Given the description of an element on the screen output the (x, y) to click on. 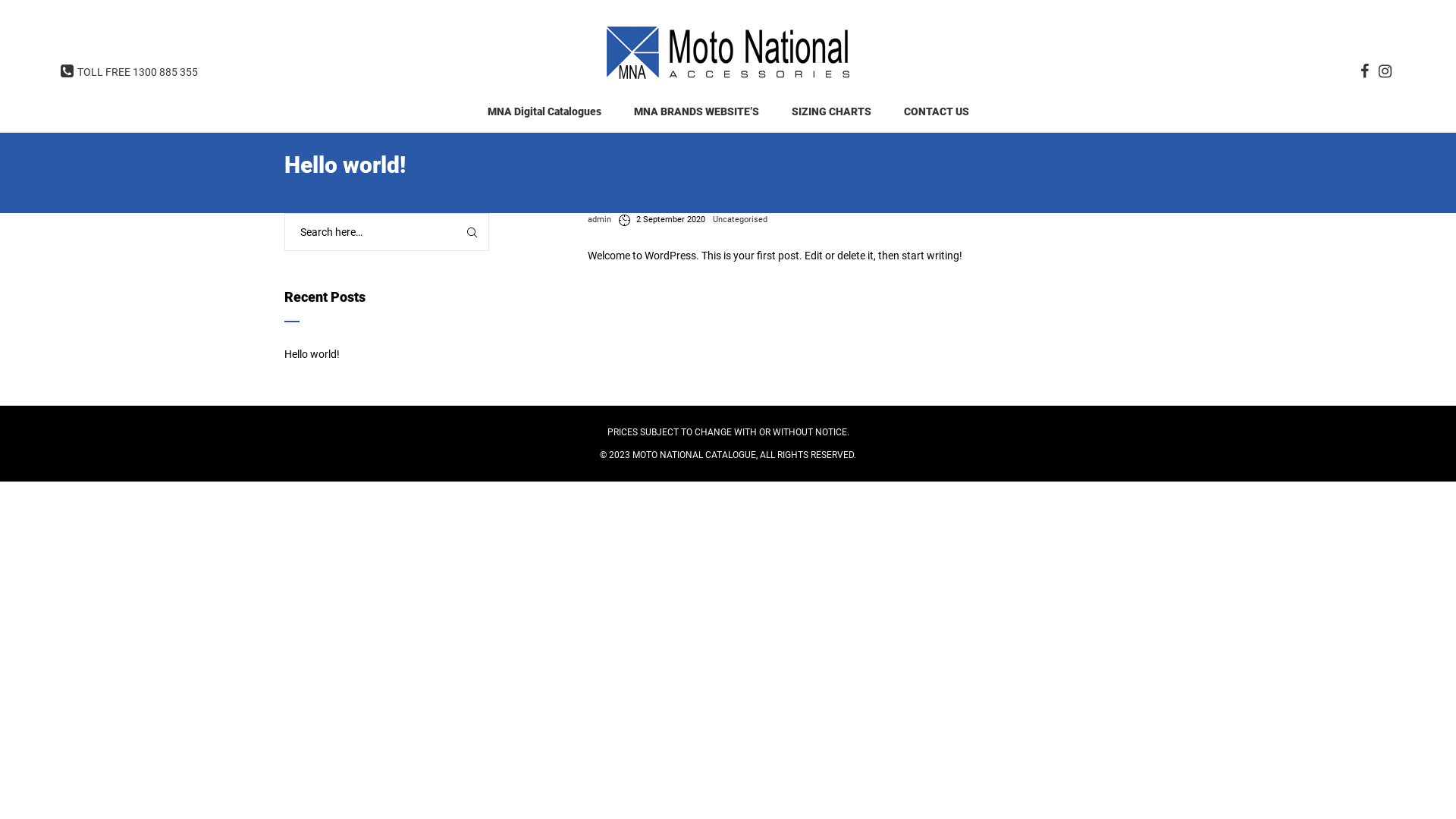
by
admin Element type: text (599, 219)
SIZING CHARTS Element type: text (831, 110)
MNA Digital Catalogues Element type: text (543, 110)
Hello world! Element type: text (311, 354)
2 September 2020 Element type: text (670, 219)
Search for: Element type: hover (386, 232)
CONTACT US Element type: text (936, 110)
TOLL FREE 1300 885 355 Element type: text (128, 66)
Uncategorised Element type: text (739, 219)
